Given the description of an element on the screen output the (x, y) to click on. 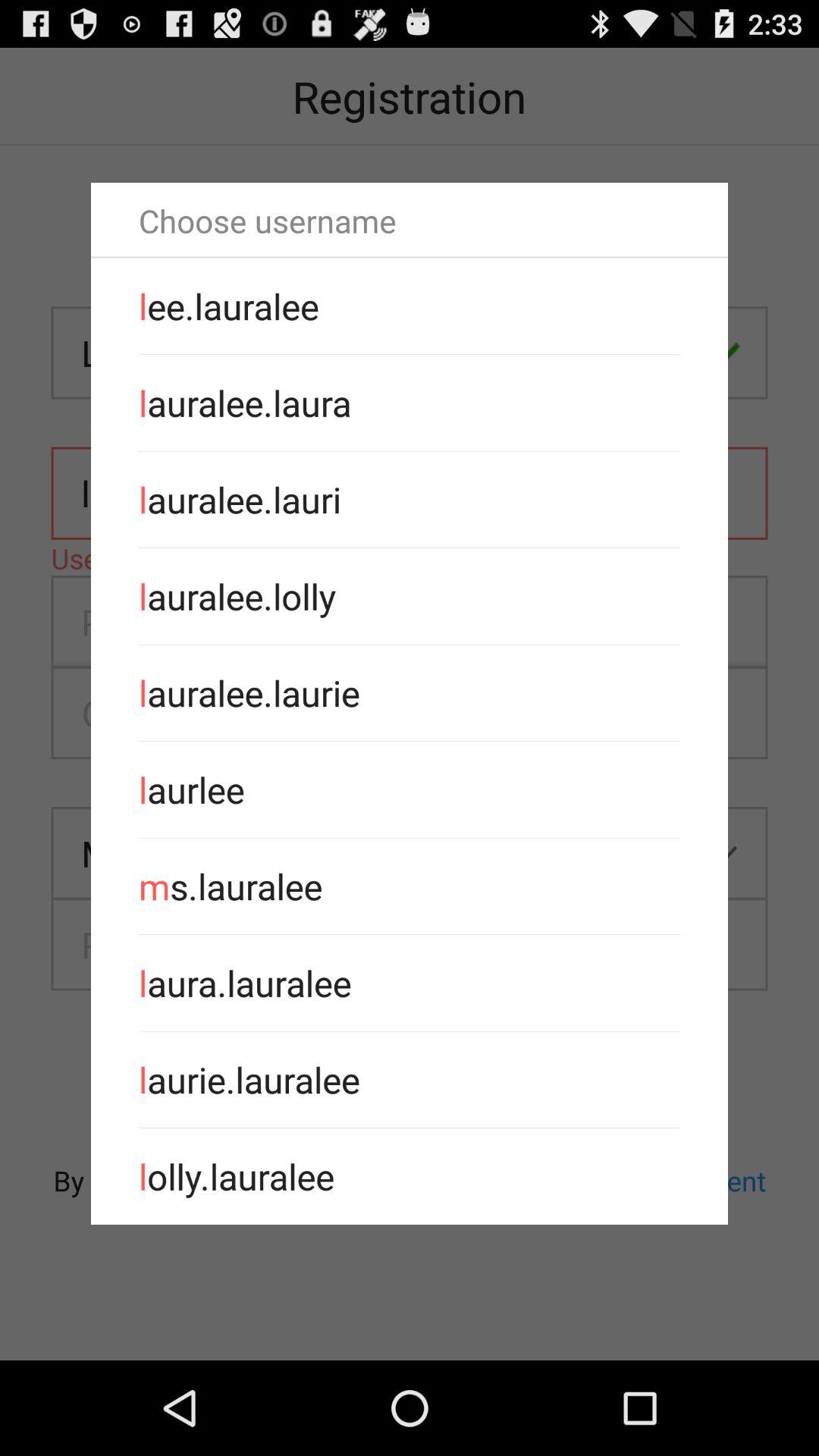
choose the app above the ms.lauralee app (409, 789)
